Given the description of an element on the screen output the (x, y) to click on. 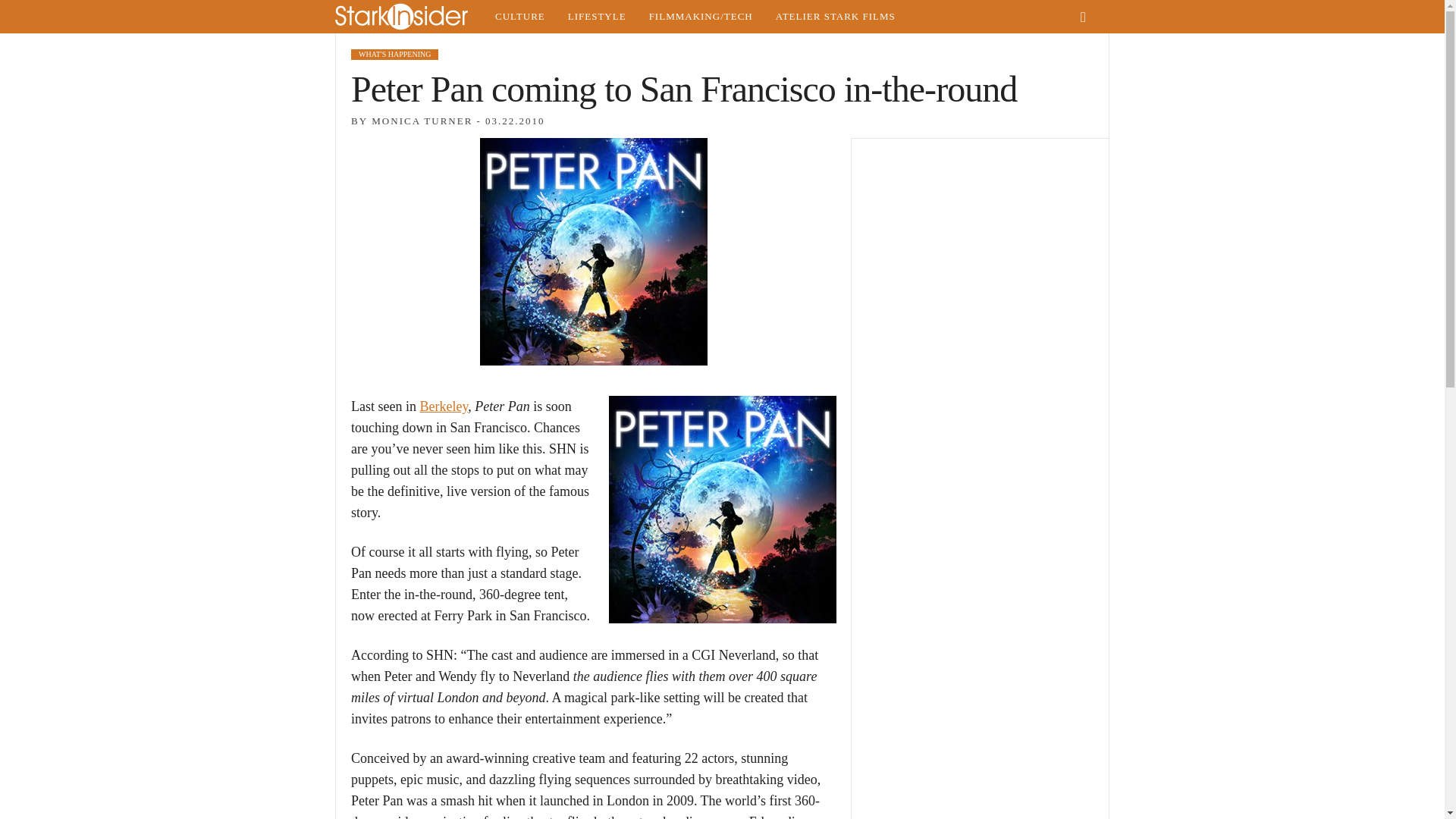
Peter Pan, San-Francisco SHN (721, 509)
LIFESTYLE (596, 16)
CULTURE (519, 16)
WHAT'S HAPPENING (394, 54)
Stark Insider (408, 16)
Peter Pan, San-Francisco SHN (592, 251)
MONICA TURNER (421, 120)
ATELIER STARK FILMS (835, 16)
Tech, gadgets, camera news and reviews from Silicon Valley (700, 16)
Berkeley (443, 406)
Indie film, music, arts in San Francisco and Silicon Valley (519, 16)
